Given the description of an element on the screen output the (x, y) to click on. 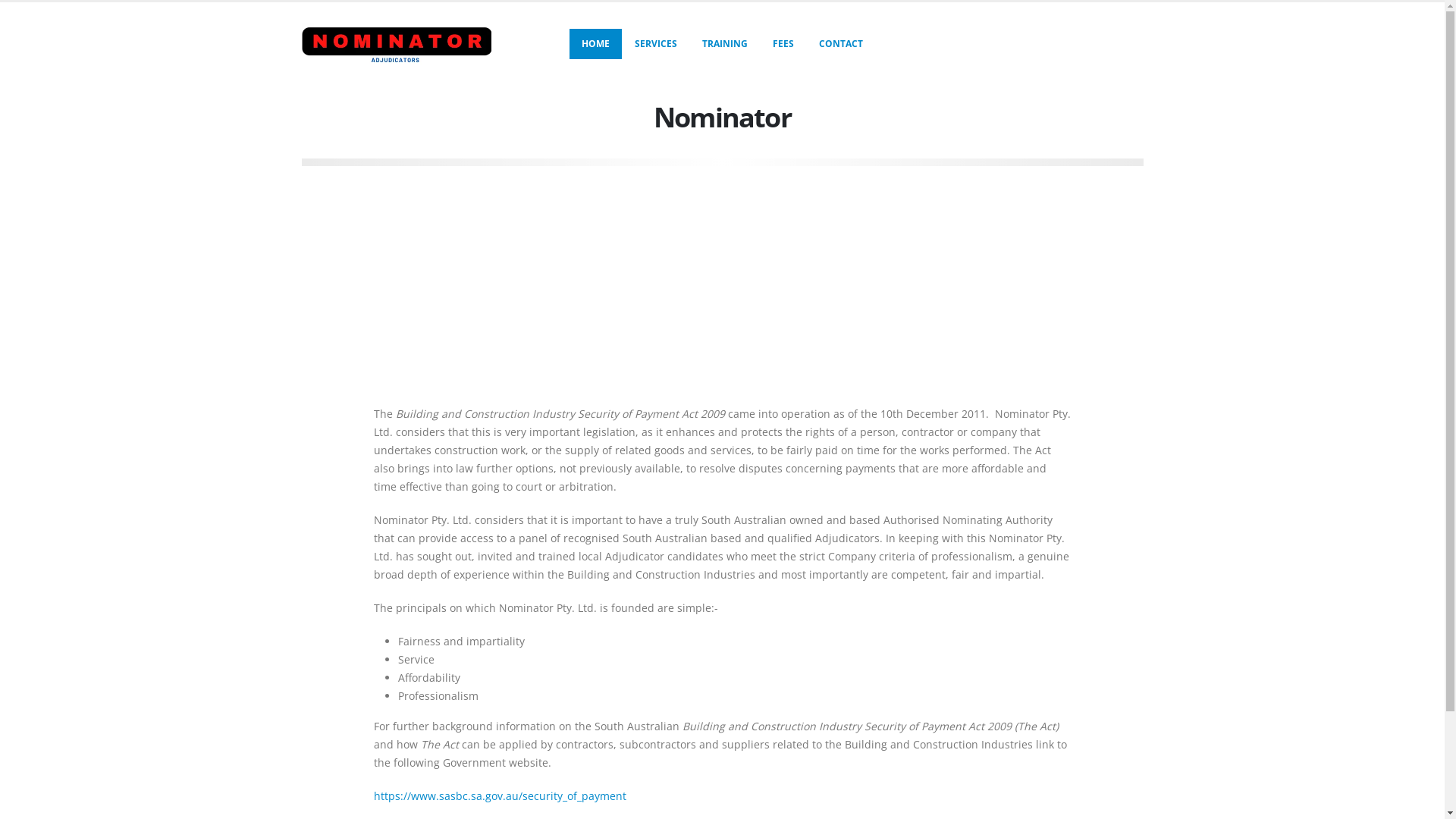
HOME Element type: text (595, 43)
TRAINING Element type: text (724, 43)
FEES Element type: text (783, 43)
SERVICES Element type: text (655, 43)
Nominator - The Dispute Resolution Experts Element type: hover (396, 43)
CONTACT Element type: text (840, 43)
https://www.sasbc.sa.gov.au/security_of_payment Element type: text (499, 795)
